Given the description of an element on the screen output the (x, y) to click on. 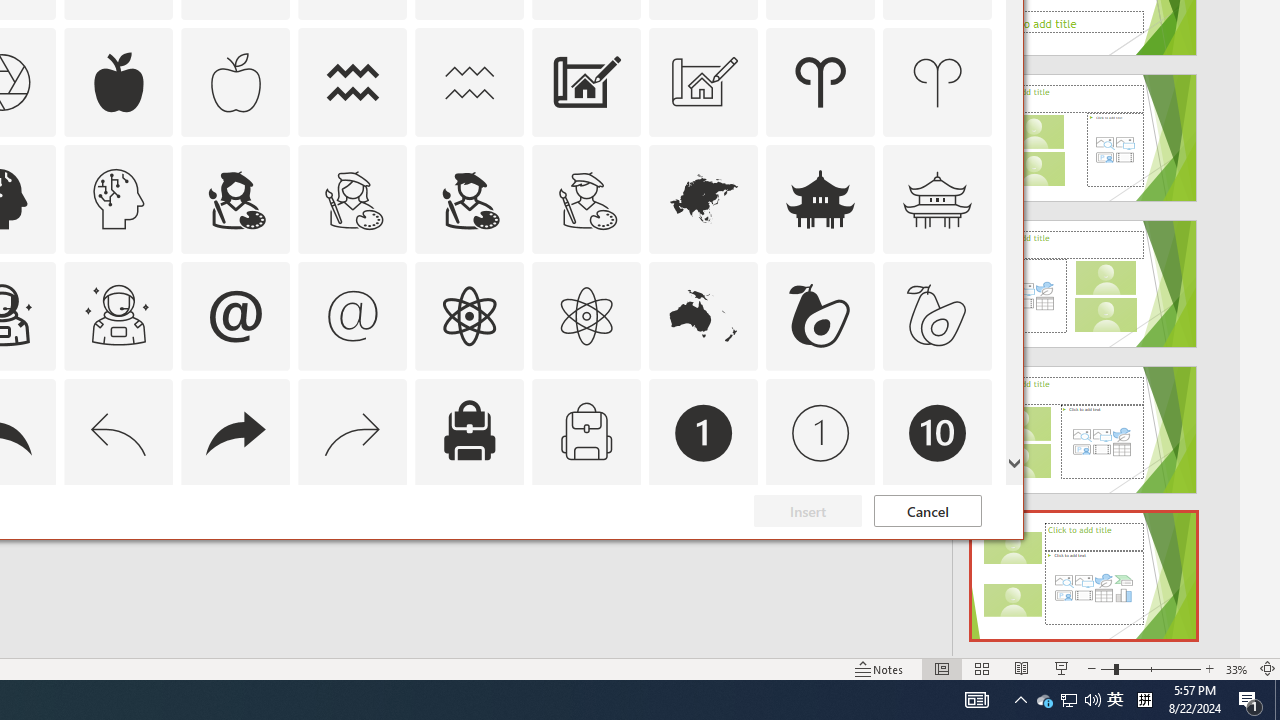
AutomationID: Icons_Badge10 (938, 432)
AutomationID: Icons_Atom (469, 316)
AutomationID: Icons_ArtistFemale (235, 198)
AutomationID: Icons_Back_RTL (235, 432)
AutomationID: Icons_Asia (703, 198)
AutomationID: Icons_AsianTemple_M (938, 198)
AutomationID: Icons_Architecture_M (703, 82)
AutomationID: Icons_Aries (820, 82)
AutomationID: Icons_Badge1 (703, 432)
AutomationID: Icons_Australia (703, 316)
